Given the description of an element on the screen output the (x, y) to click on. 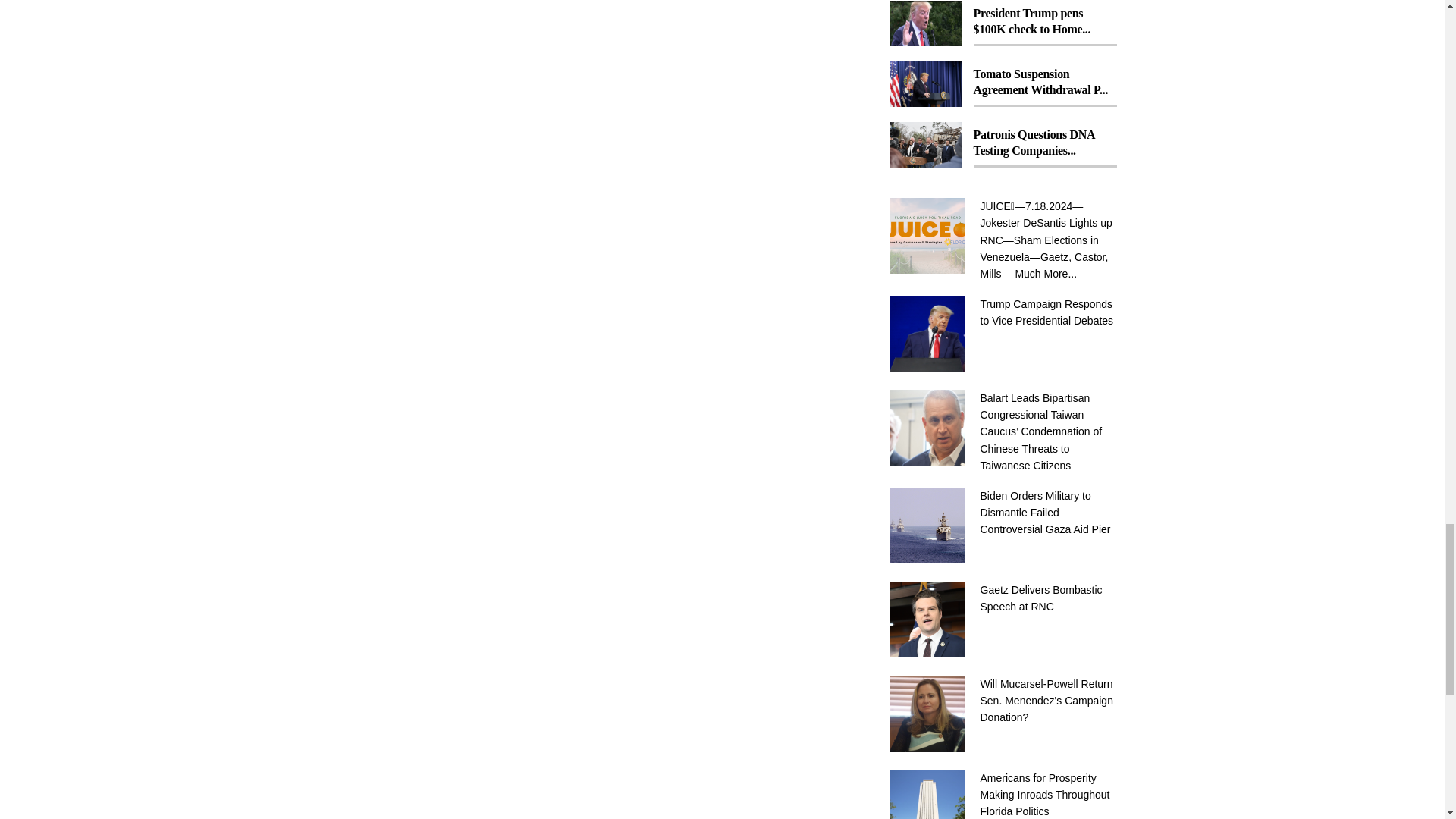
Trump Campaign Responds to Vice Presidential Debates (1047, 312)
Gaetz Delivers Bombastic Speech at RNC (1047, 598)
